Given the description of an element on the screen output the (x, y) to click on. 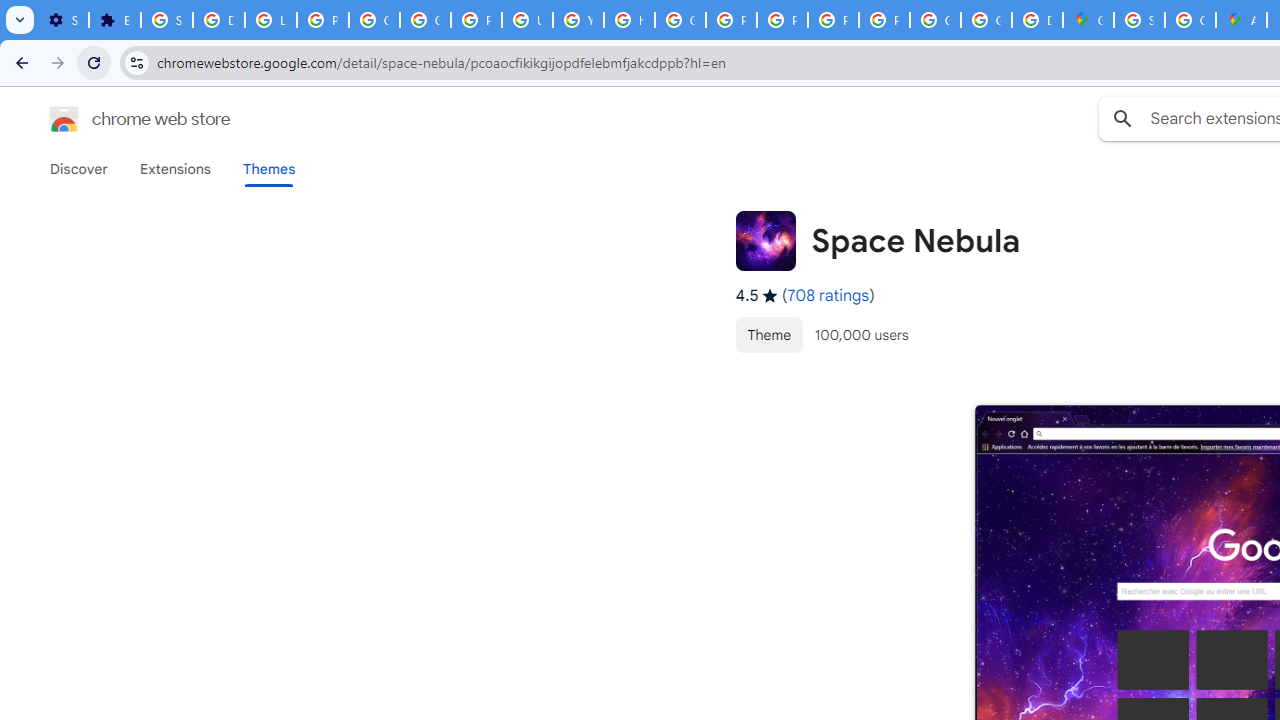
Extensions (174, 169)
Google Account Help (374, 20)
Themes (269, 169)
Chrome Web Store logo chrome web store (118, 118)
https://scholar.google.com/ (629, 20)
